Given the description of an element on the screen output the (x, y) to click on. 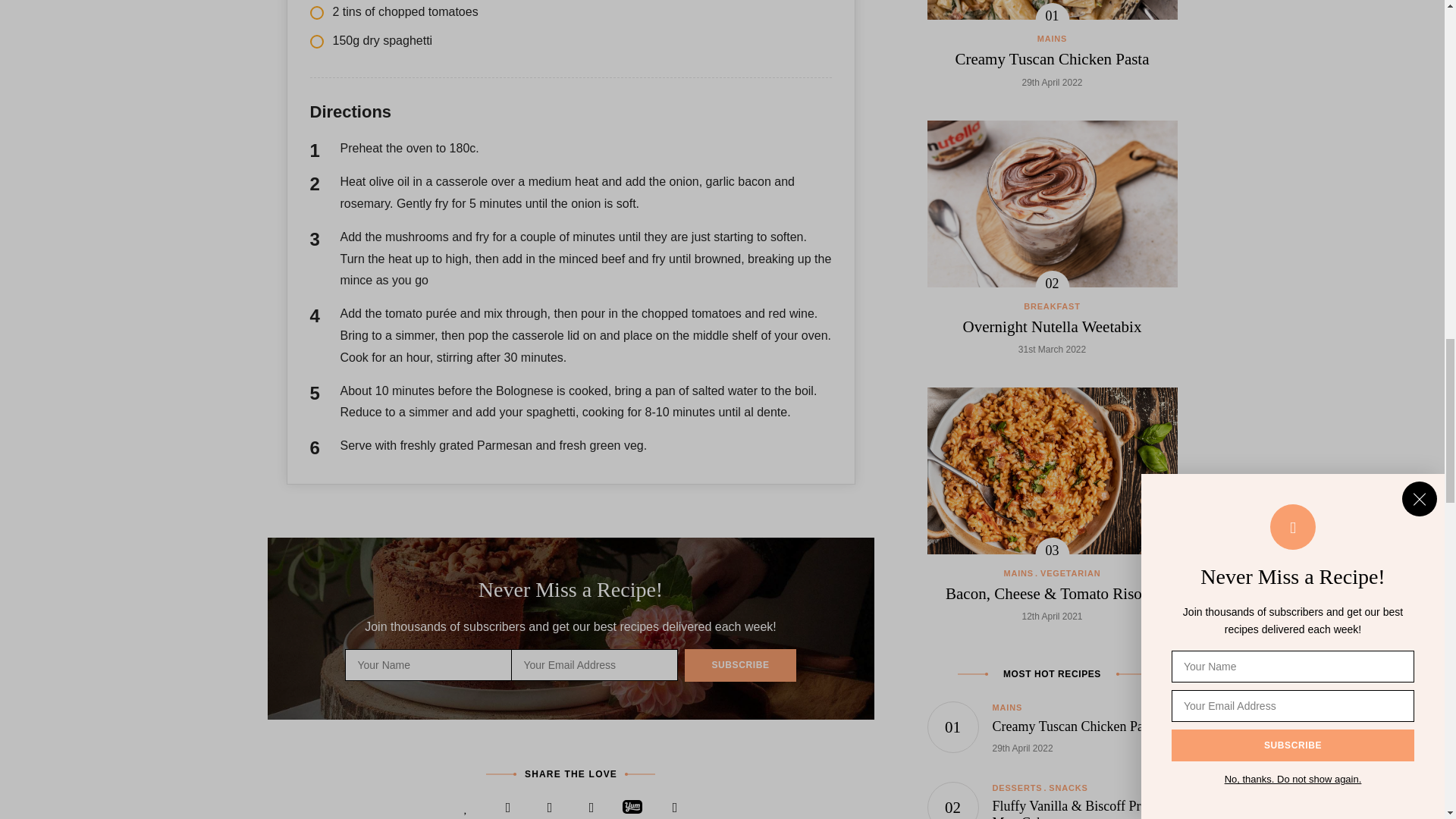
Like (465, 805)
Facebook (508, 805)
Twitter (549, 805)
WhatsApp (675, 805)
Pinterest (591, 805)
Yummly (632, 804)
Subscribe (739, 664)
